Given the description of an element on the screen output the (x, y) to click on. 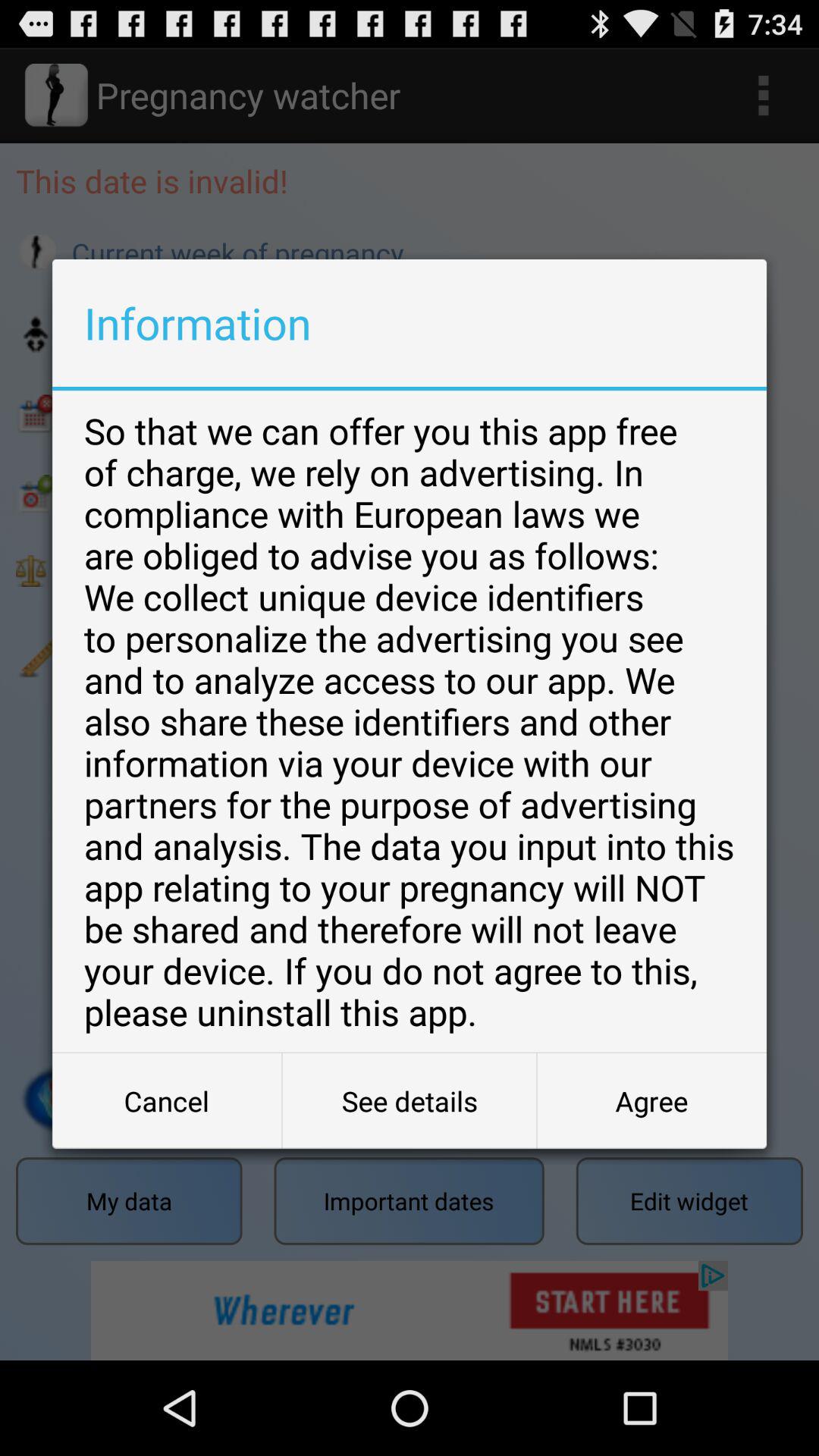
turn off the icon below so that we app (651, 1100)
